Given the description of an element on the screen output the (x, y) to click on. 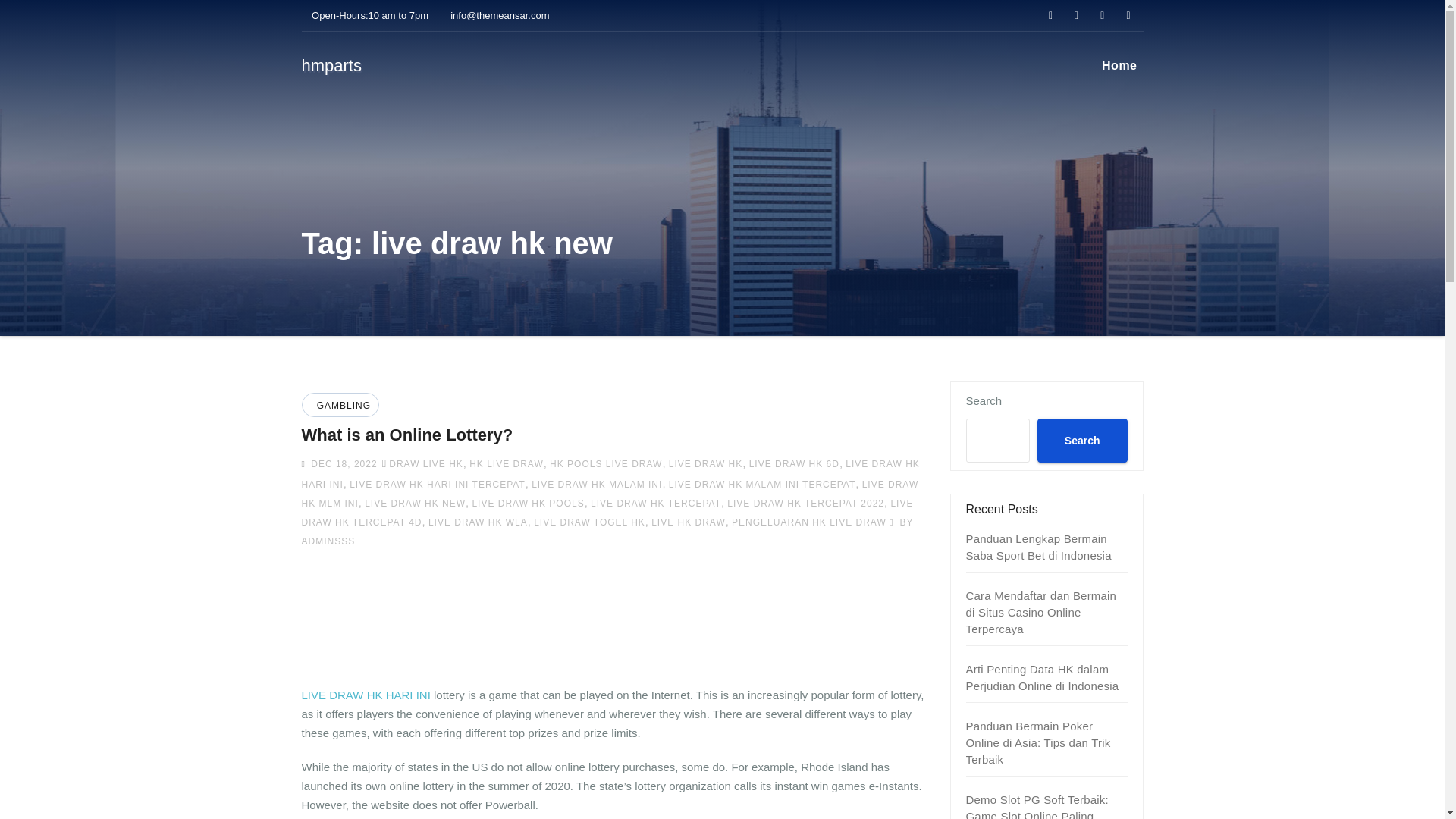
DRAW LIVE HK (425, 463)
LIVE DRAW HK WLA (477, 521)
LIVE DRAW HK POOLS (527, 502)
LIVE DRAW HK HARI INI (365, 694)
Search (1081, 440)
LIVE DRAW TOGEL HK (589, 521)
LIVE HK DRAW (687, 521)
GAMBLING (342, 405)
HK LIVE DRAW (505, 463)
LIVE DRAW HK MALAM INI (596, 484)
LIVE DRAW HK NEW (415, 502)
Panduan Lengkap Bermain Saba Sport Bet di Indonesia (1039, 546)
LIVE DRAW HK TERCEPAT 2022 (804, 502)
LIVE DRAW HK 6D (794, 463)
BY ADMINSSS (607, 531)
